Given the description of an element on the screen output the (x, y) to click on. 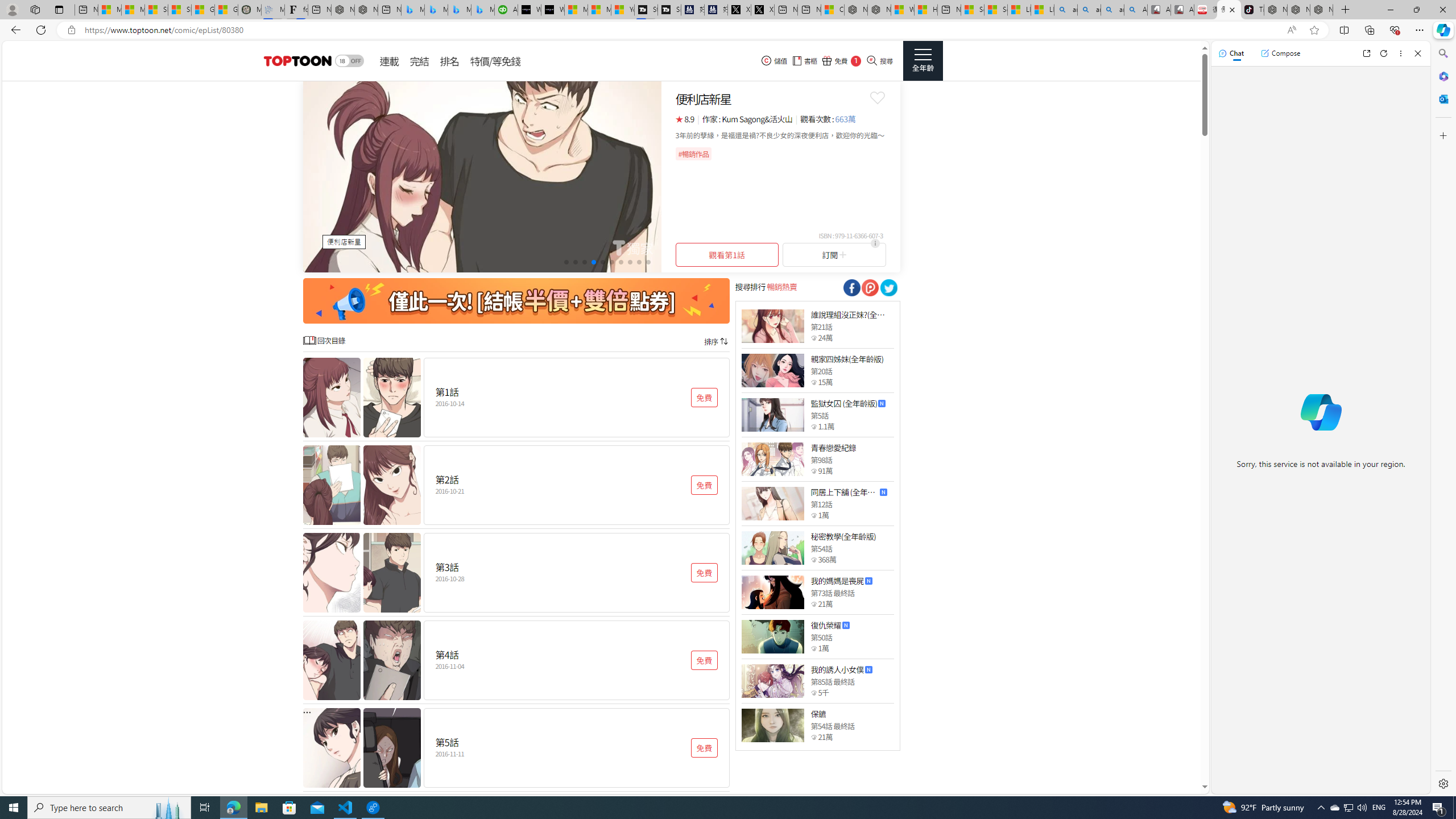
Open link in new tab (1366, 53)
Nordace - Best Sellers (1275, 9)
Amazon Echo Robot - Search Images (1135, 9)
Search (1442, 53)
Outlook (1442, 98)
More options (1401, 53)
